Given the description of an element on the screen output the (x, y) to click on. 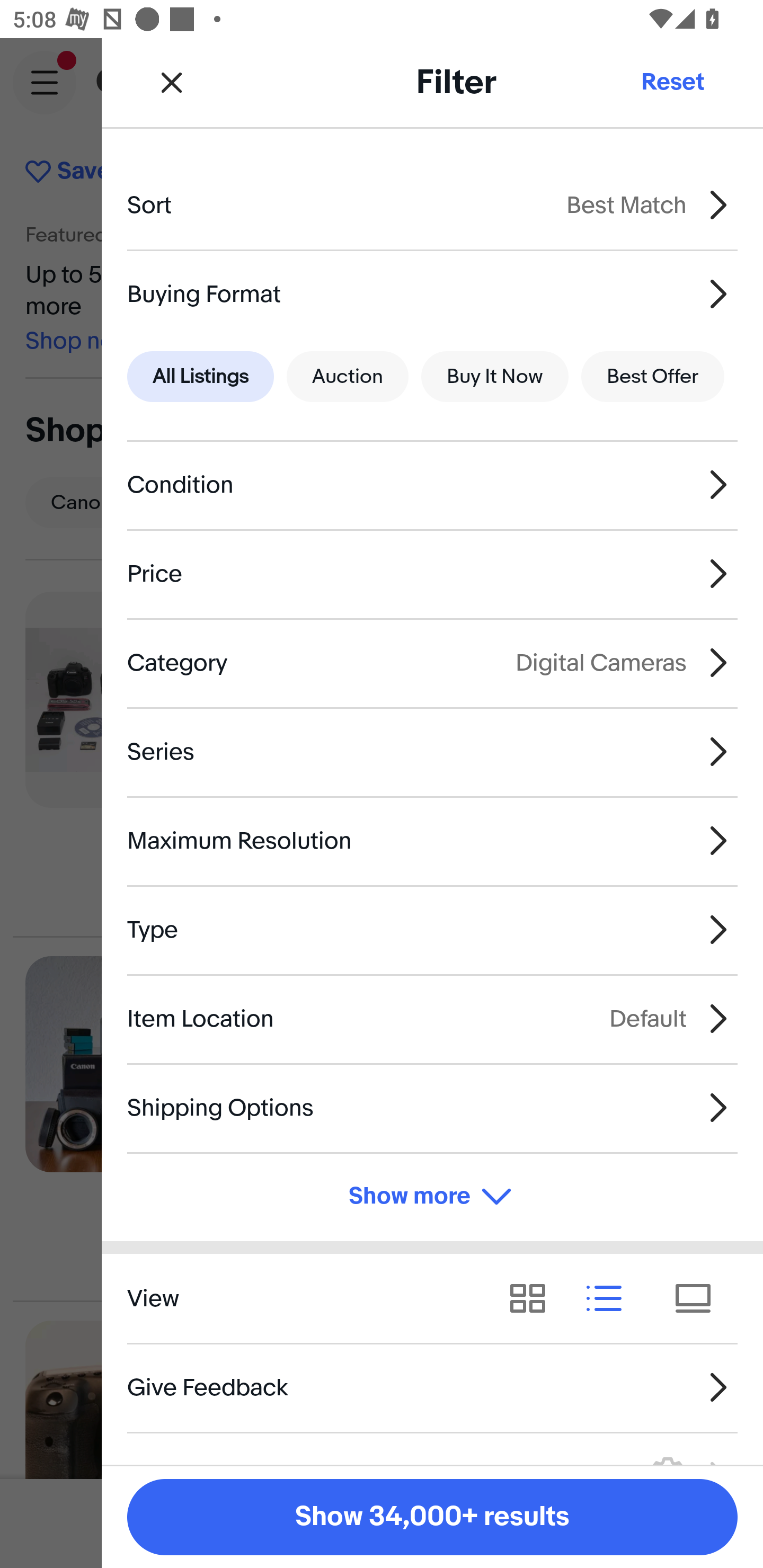
Close Filter (171, 81)
Reset (672, 81)
Buying Format (432, 293)
All Listings (200, 376)
Auction (347, 376)
Buy It Now (494, 376)
Best Offer (652, 376)
Condition (432, 484)
Price (432, 573)
Category Digital Cameras (432, 662)
Series (432, 751)
Maximum Resolution (432, 840)
Type (432, 929)
Item Location Default (432, 1018)
Shipping Options (432, 1107)
Show more (432, 1196)
View results as grid (533, 1297)
View results as list (610, 1297)
View results as tiles (699, 1297)
Show 34,000+ results (432, 1516)
